Given the description of an element on the screen output the (x, y) to click on. 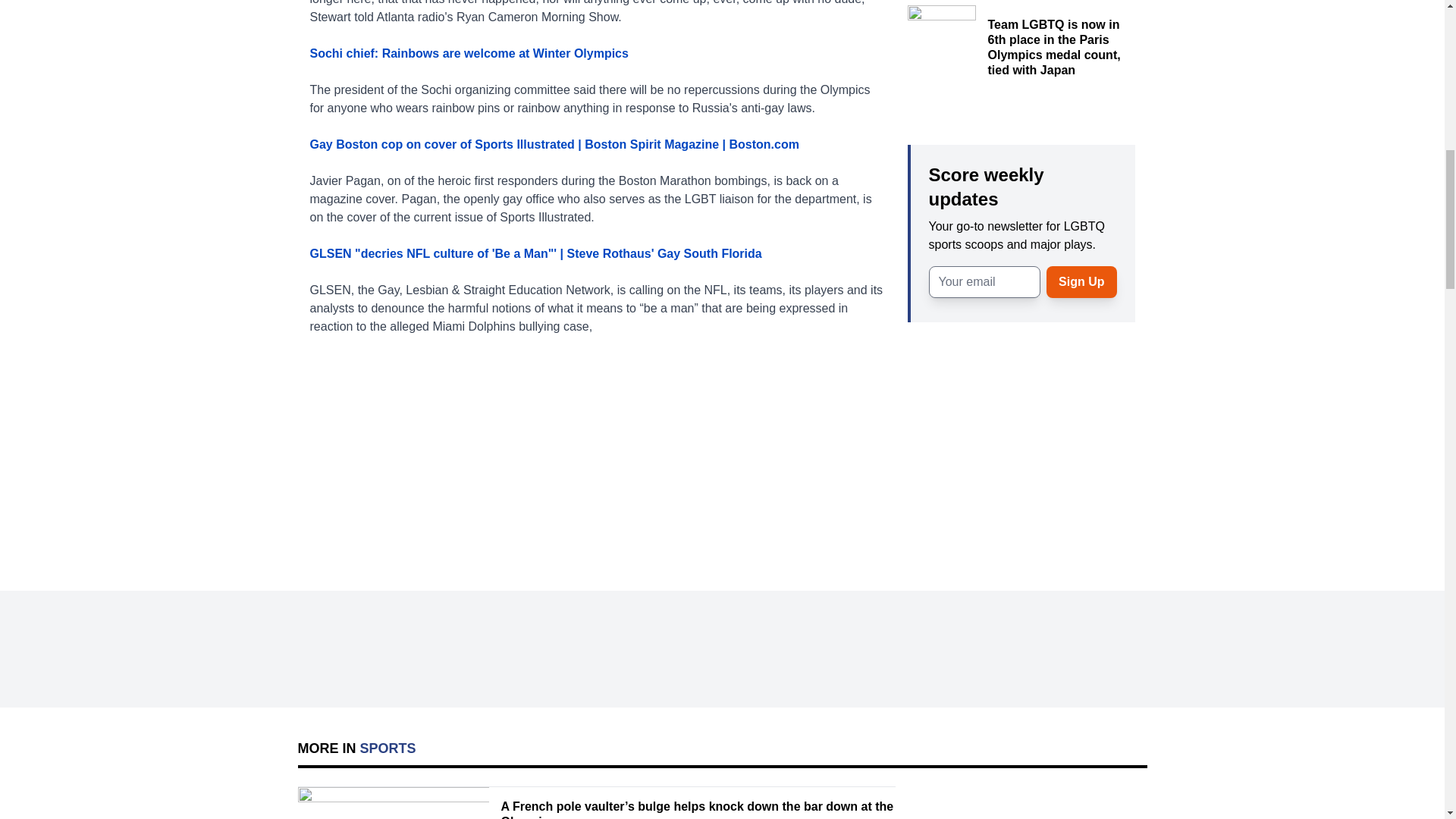
Sign Up (1081, 281)
Sochi chief: Rainbows are welcome at Winter Olympics (467, 52)
